Given the description of an element on the screen output the (x, y) to click on. 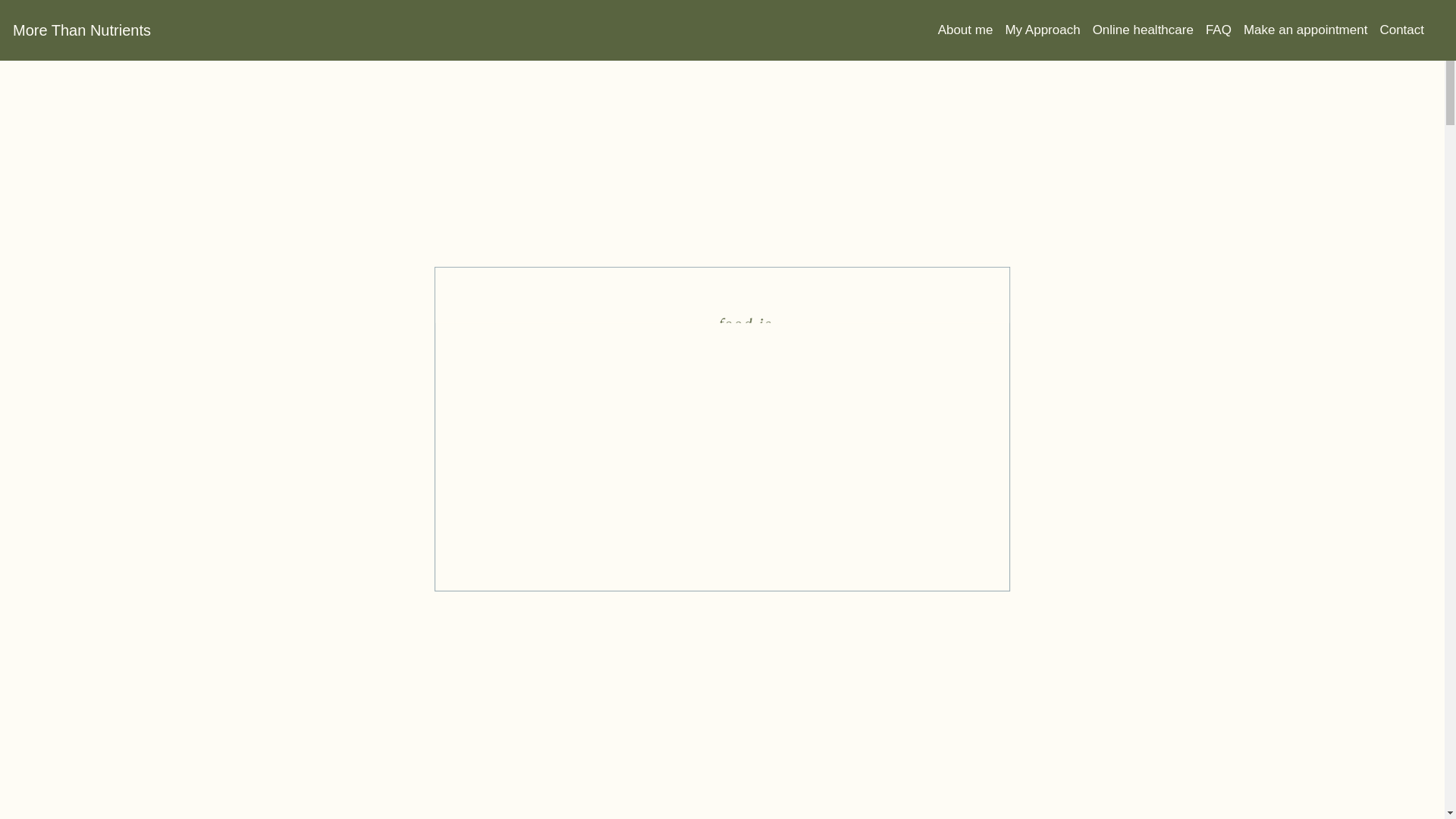
Contact (1407, 29)
Make an appointment (1312, 29)
More Than Nutrients (82, 30)
Online healthcare (1149, 29)
About me (971, 29)
My Approach (1048, 29)
